Given the description of an element on the screen output the (x, y) to click on. 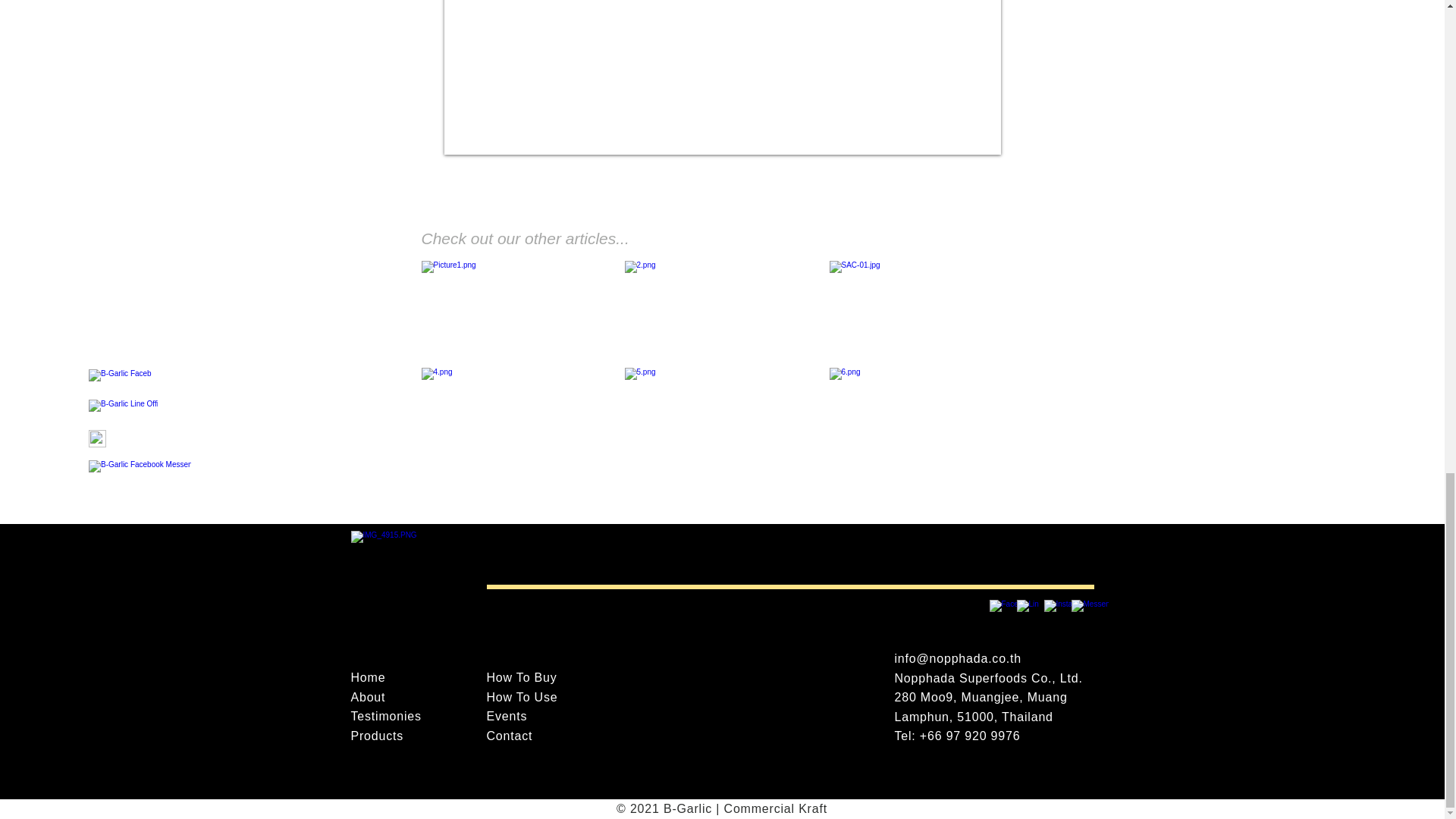
About (367, 697)
Events (506, 716)
Products (376, 735)
Contact (509, 735)
Home (367, 676)
Testimonies (385, 716)
How To Use (521, 697)
How To Buy (521, 676)
